Given the description of an element on the screen output the (x, y) to click on. 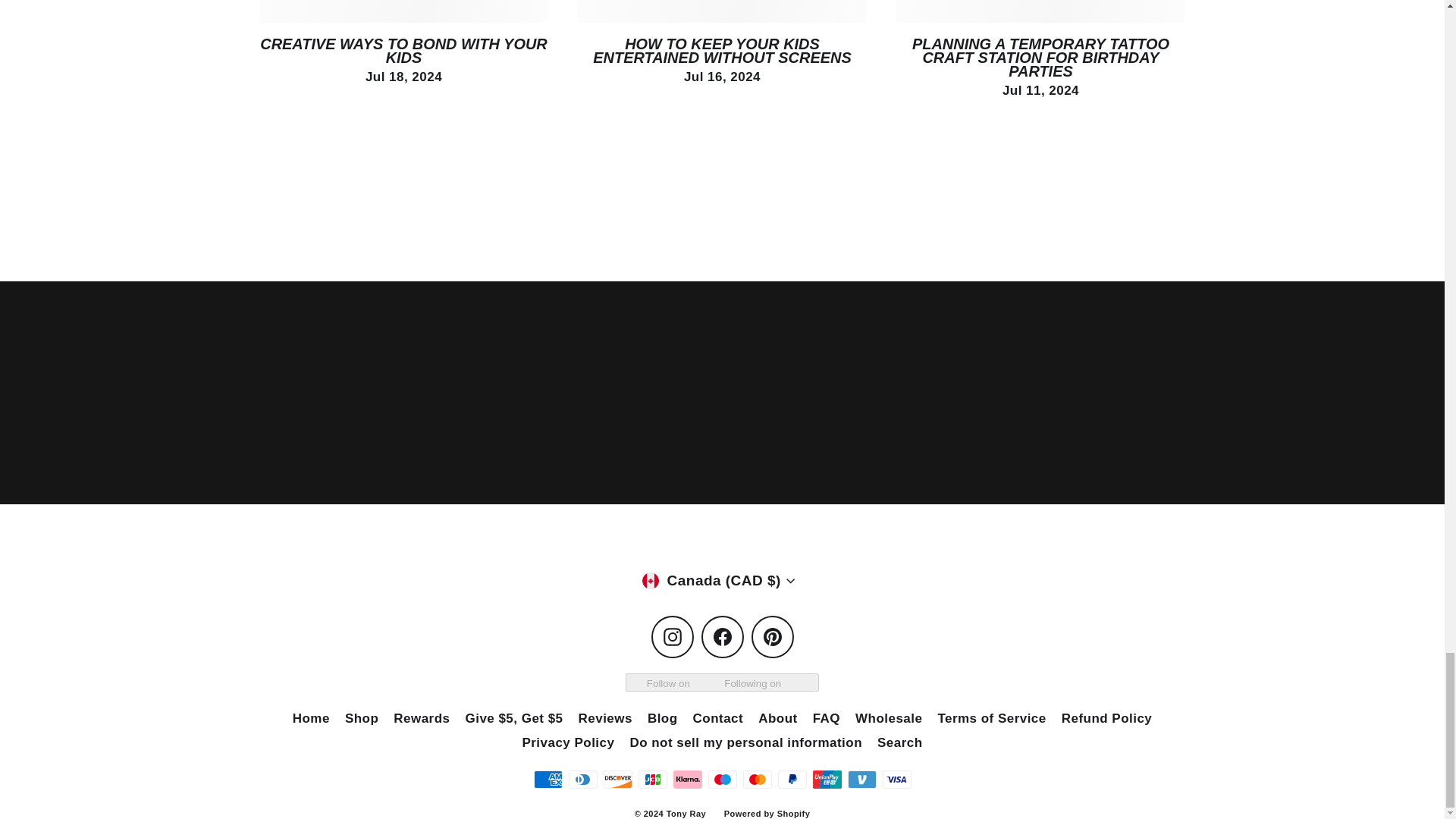
Discover (617, 779)
instagram (671, 637)
Tony Ray on Instagram (671, 636)
American Express (548, 779)
Klarna (686, 779)
Tony Ray on Pinterest (772, 636)
Tony Ray on Facebook (721, 636)
JCB (652, 779)
Diners Club (582, 779)
